Given the description of an element on the screen output the (x, y) to click on. 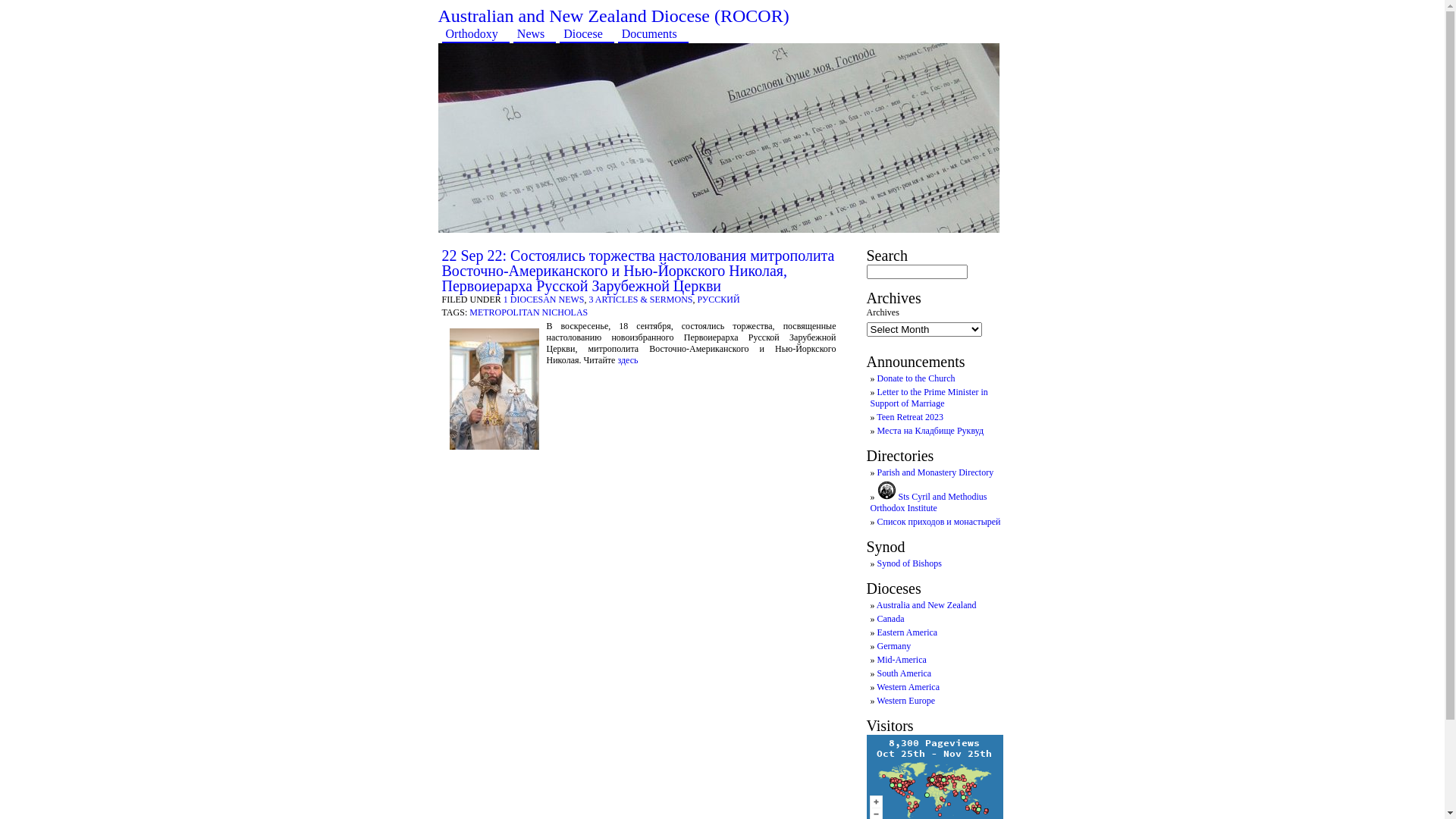
METROPOLITAN NICHOLAS Element type: text (528, 312)
1 DIOCESAN NEWS Element type: text (543, 299)
Eastern America Element type: text (906, 632)
Synod of Bishops Element type: text (908, 563)
3 ARTICLES & SERMONS Element type: text (640, 299)
Canada Element type: text (889, 618)
Letter to the Prime Minister in Support of Marriage Element type: text (929, 397)
Mid-America Element type: text (900, 659)
Western Europe Element type: text (905, 700)
Teen Retreat 2023 Element type: text (909, 416)
Documents Element type: text (653, 33)
News Element type: text (534, 33)
Germany Element type: text (893, 645)
Western America Element type: text (907, 686)
Diocese Element type: text (586, 33)
South America Element type: text (903, 673)
Australia and New Zealand Element type: text (926, 604)
Donate to the Church Element type: text (915, 378)
Australian and New Zealand Diocese (ROCOR) Element type: text (613, 15)
Orthodoxy Element type: text (474, 33)
Sts Cyril and Methodius Orthodox Institute Element type: text (928, 502)
Parish and Monastery Directory Element type: text (934, 472)
